Given the description of an element on the screen output the (x, y) to click on. 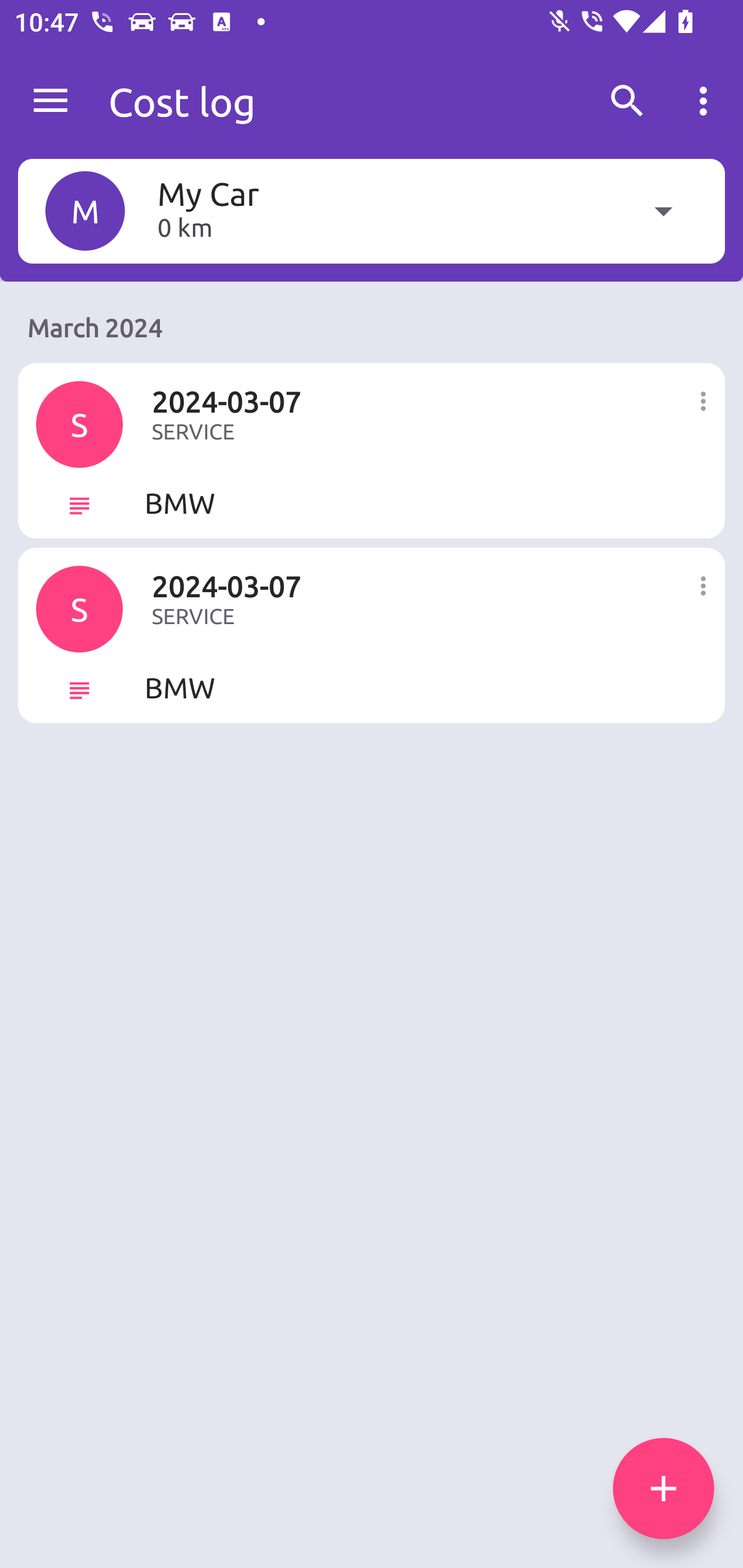
Fuelio (50, 101)
Search (626, 101)
More options (706, 101)
M My Car 0 km (371, 210)
S 2024-03-07 SERVICE More BMW (371, 450)
More (702, 399)
S 2024-03-07 SERVICE More BMW (371, 634)
More (702, 584)
Add cost (663, 1488)
